Given the description of an element on the screen output the (x, y) to click on. 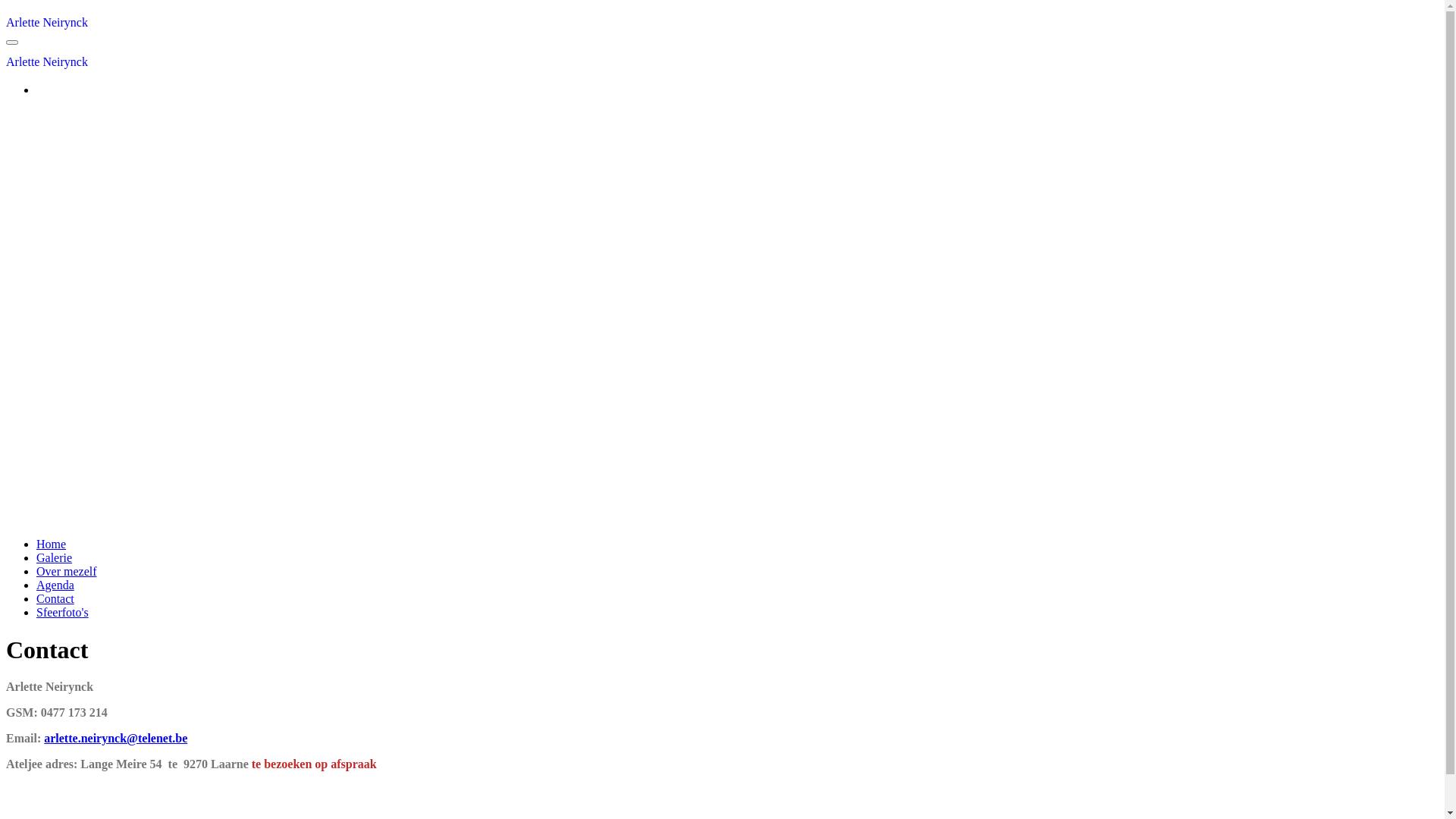
Arlette Neirynck Element type: text (46, 61)
Agenda Element type: text (55, 584)
Galerie Element type: text (54, 557)
Sfeerfoto's Element type: text (62, 611)
Home Element type: text (50, 543)
Contact Element type: text (55, 598)
Arlette Neirynck Element type: text (46, 21)
arlette.neirynck@telenet.be Element type: text (115, 737)
Over mezelf Element type: text (66, 570)
